Given the description of an element on the screen output the (x, y) to click on. 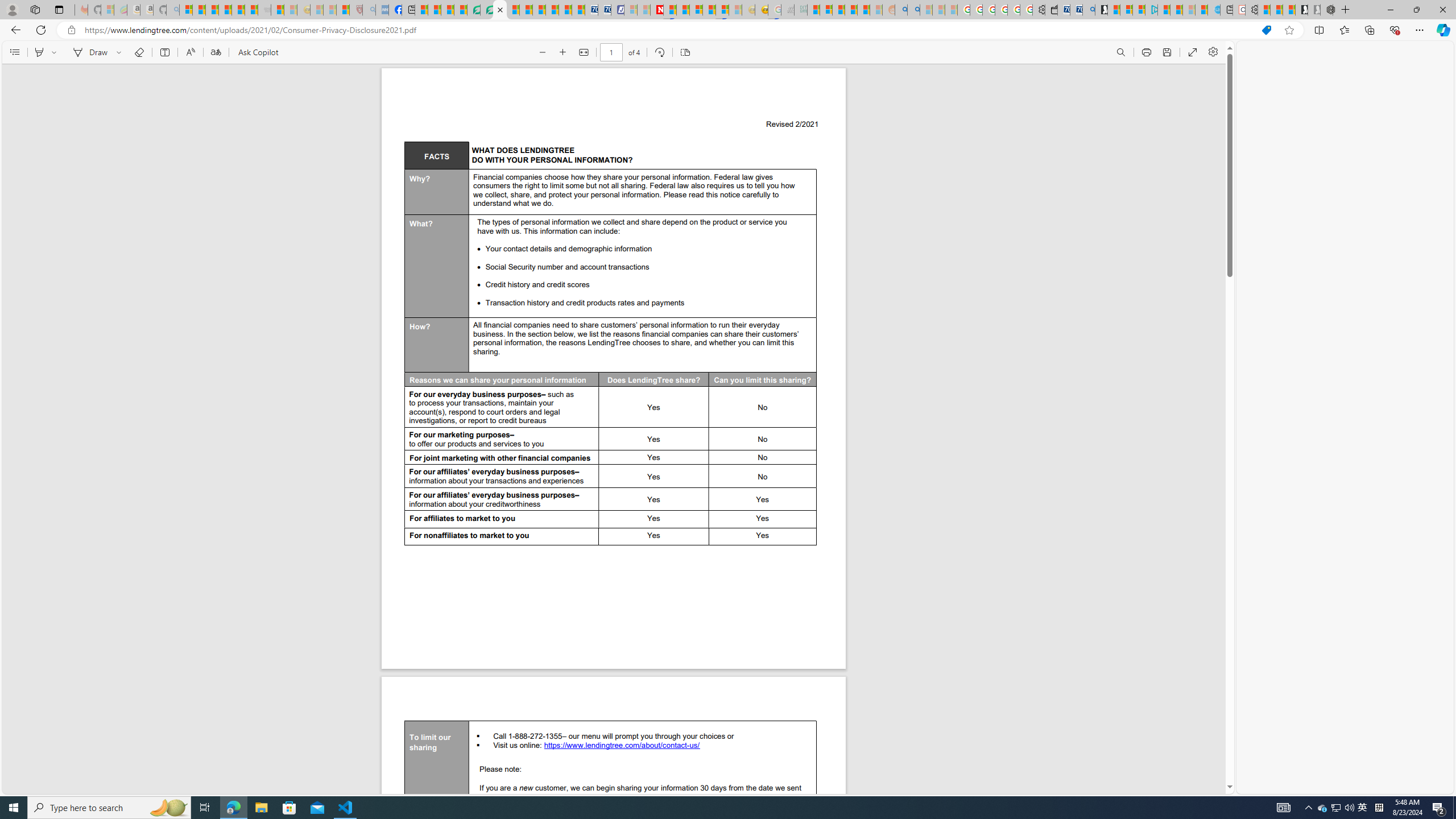
Microsoft Start - Sleeping (1188, 9)
Settings and more (1212, 52)
Cheap Hotels - Save70.com (603, 9)
Microsoft-Report a Concern to Bing - Sleeping (107, 9)
Select a highlight color (56, 52)
Microsoft account | Privacy - Sleeping (630, 9)
Read aloud (189, 52)
Draw (88, 52)
Stocks - MSN (251, 9)
Fit to width (Ctrl+\) (583, 52)
Rotate (Ctrl+]) (660, 52)
